Given the description of an element on the screen output the (x, y) to click on. 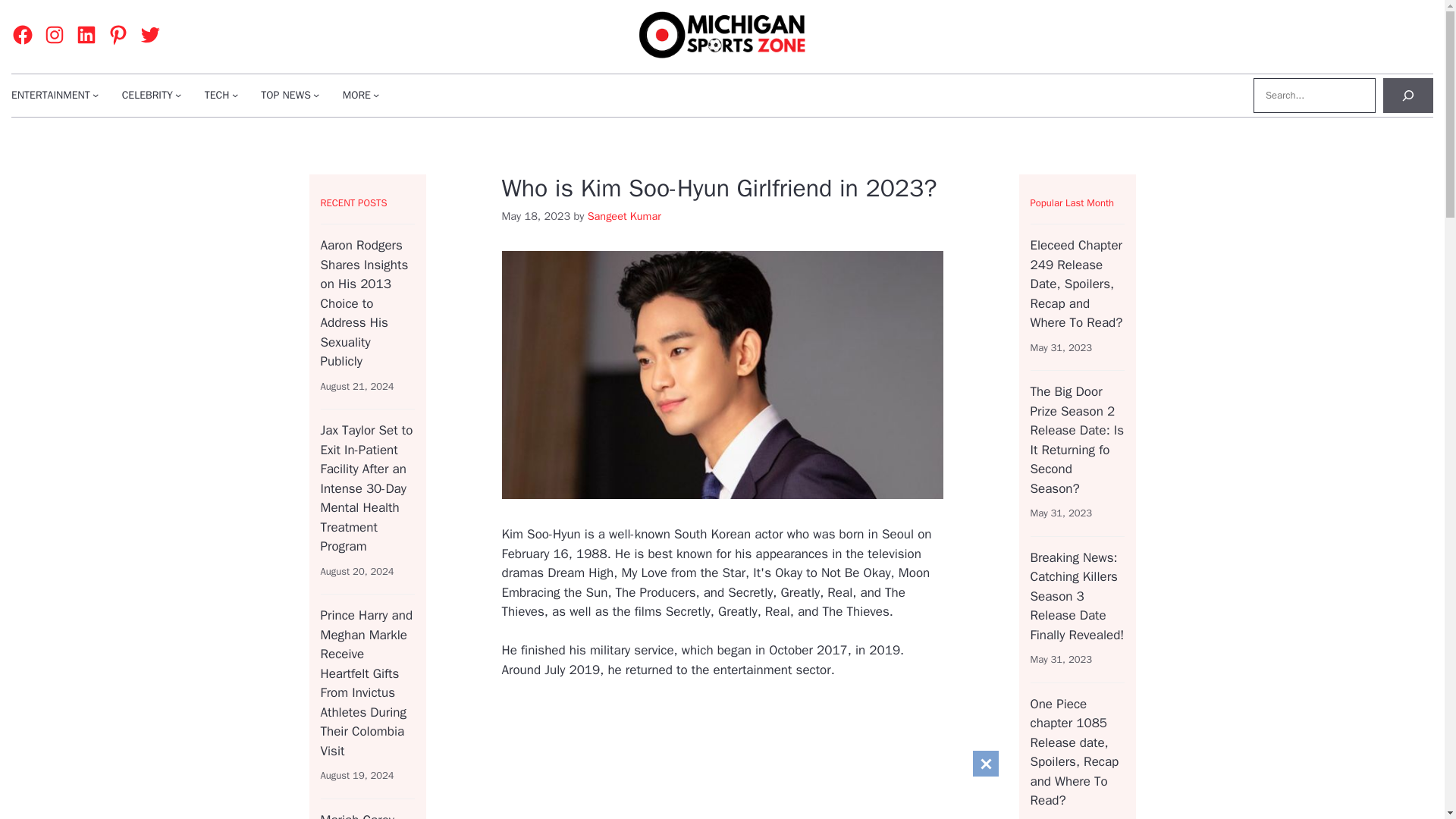
TOP NEWS (285, 94)
CELEBRITY (147, 94)
TECH (217, 94)
ENTERTAINMENT (50, 94)
Advertisement (837, 759)
Pinterest (117, 34)
View all posts by Sangeet Kumar (624, 215)
Twitter (149, 34)
LinkedIn (86, 34)
Sangeet Kumar (624, 215)
